Given the description of an element on the screen output the (x, y) to click on. 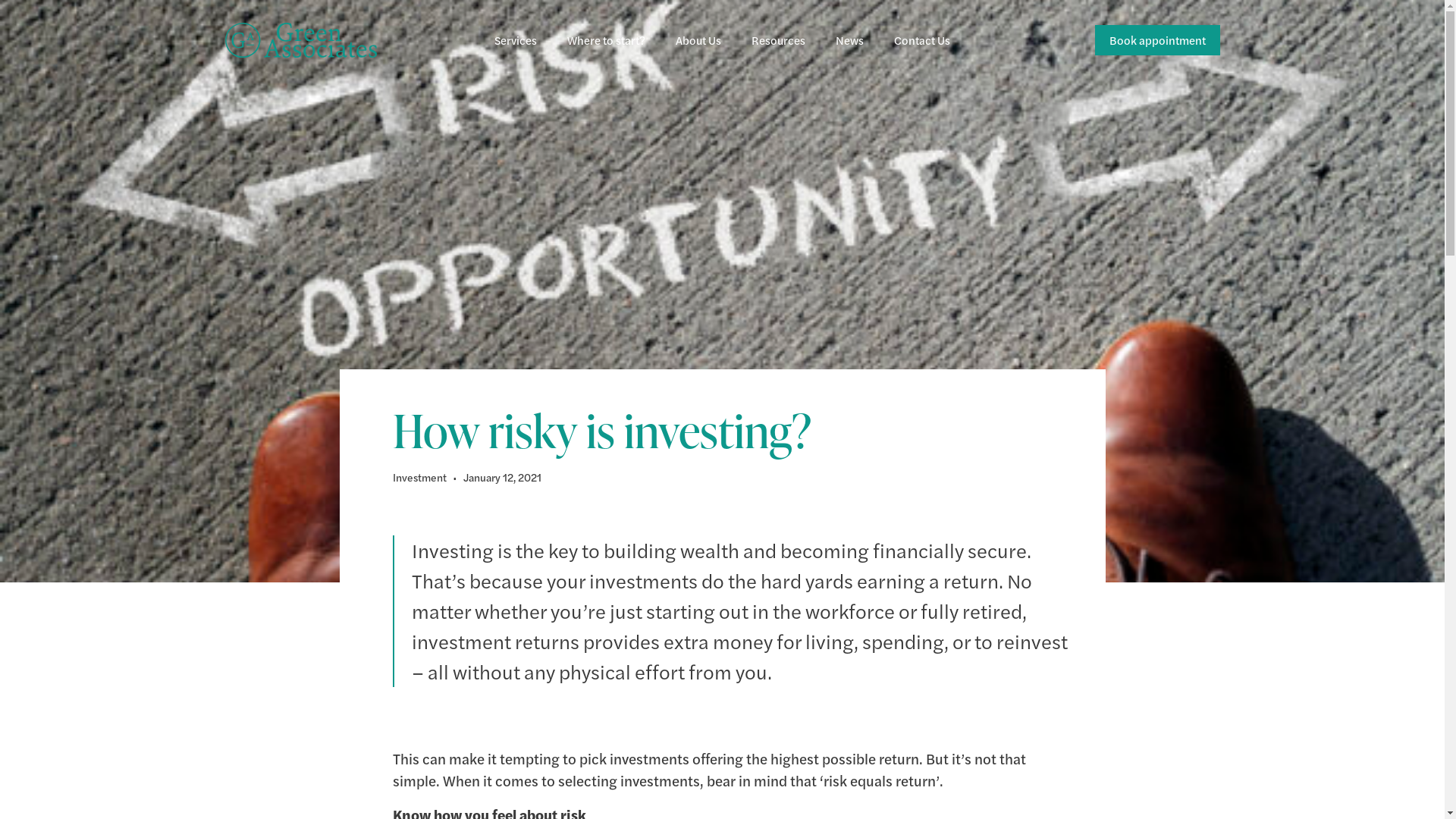
About Us Element type: text (698, 40)
News Element type: text (849, 40)
Book appointment Element type: text (1157, 40)
Services Element type: text (515, 40)
Resources Element type: text (778, 40)
Where to start? Element type: text (606, 40)
Contact Us Element type: text (922, 40)
